Given the description of an element on the screen output the (x, y) to click on. 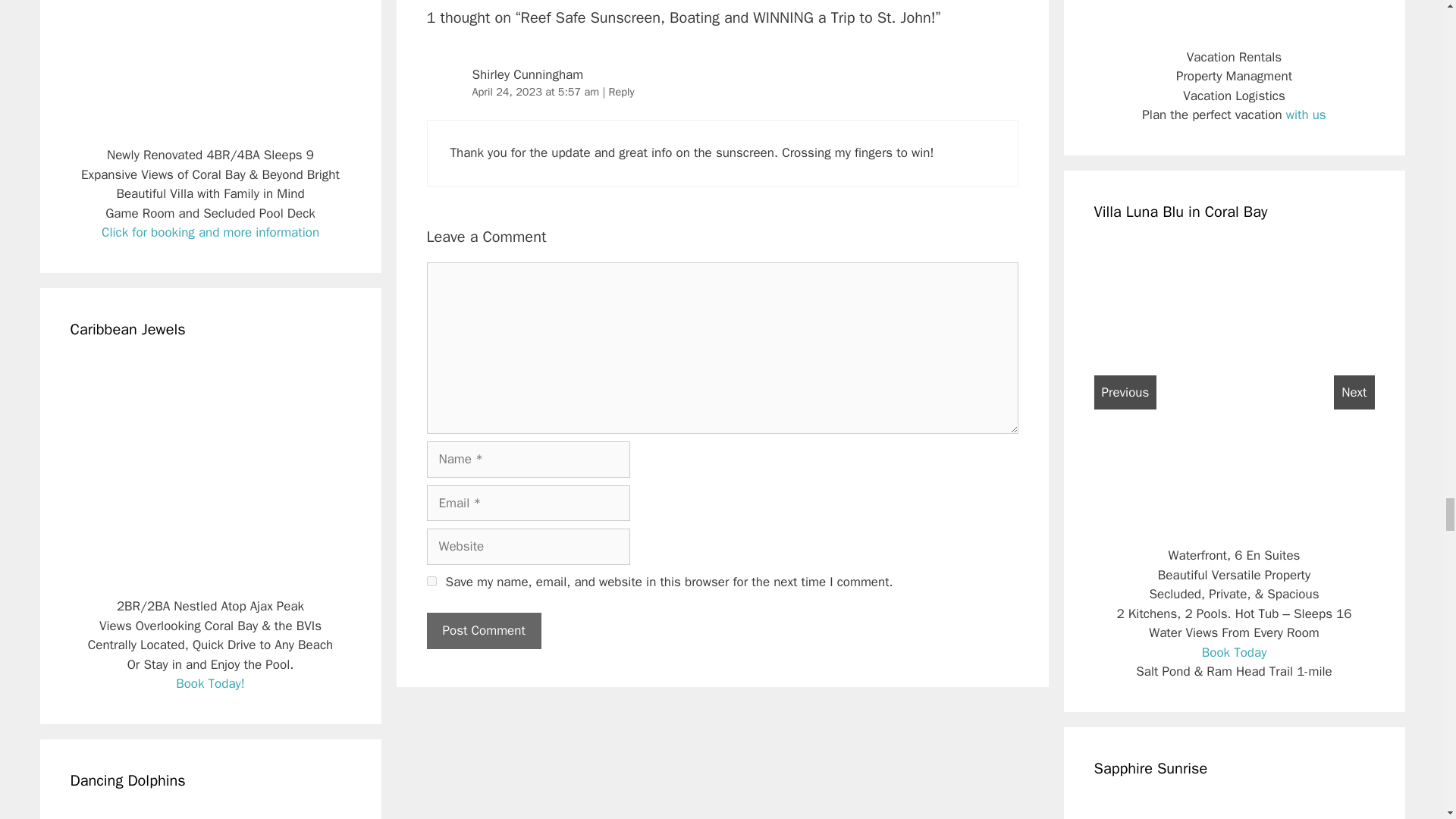
Post Comment (483, 630)
yes (430, 581)
